Given the description of an element on the screen output the (x, y) to click on. 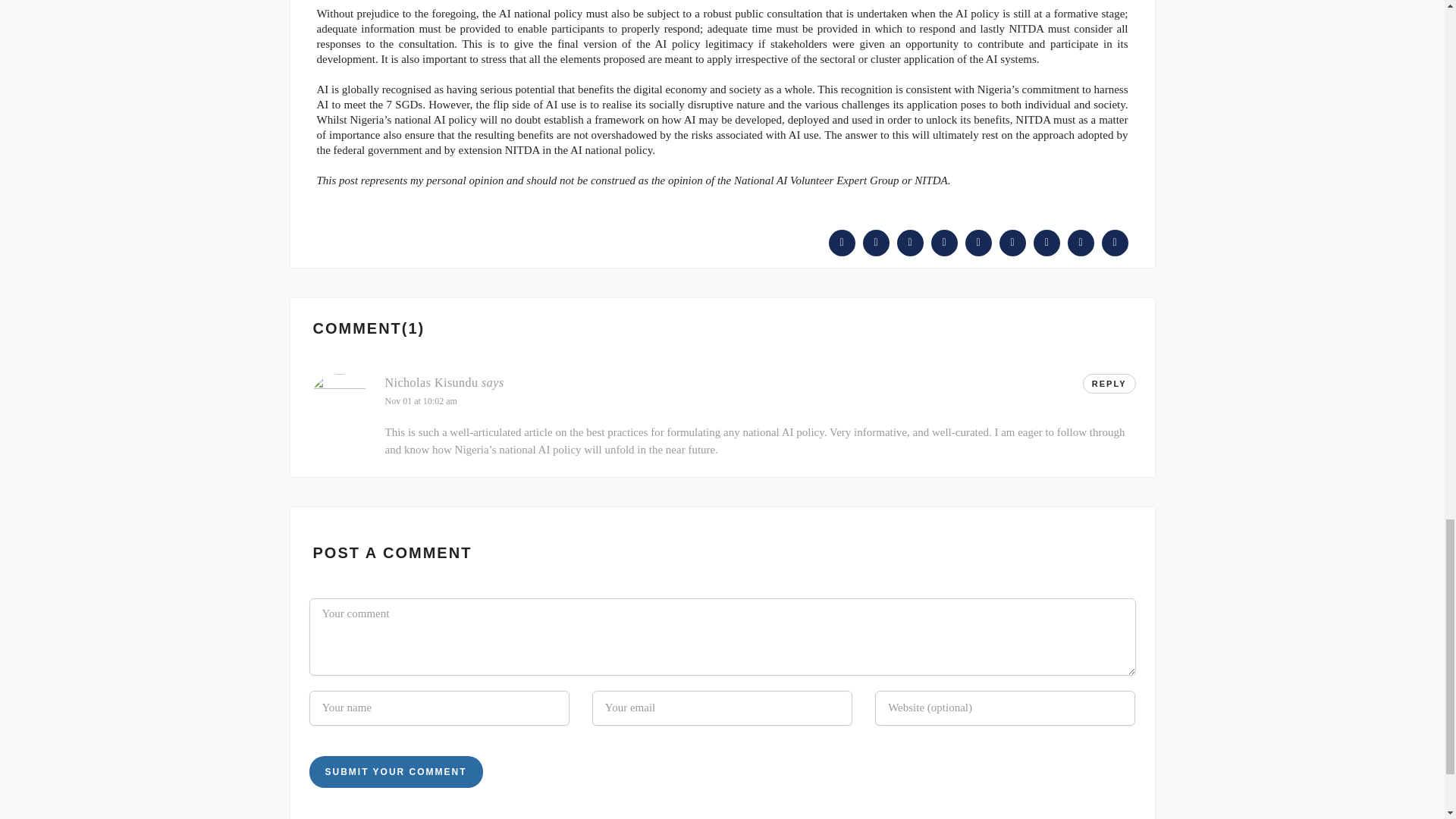
Share on vk (1113, 242)
Email (1080, 242)
Pin it (977, 242)
Share on Facebook (841, 242)
Submit to Reddit (1012, 242)
Share on Linkedin (1045, 242)
Tweet (876, 242)
REPLY (1109, 383)
Submit your comment (395, 771)
Submit your comment (395, 771)
Post to Tumblr (944, 242)
